Given the description of an element on the screen output the (x, y) to click on. 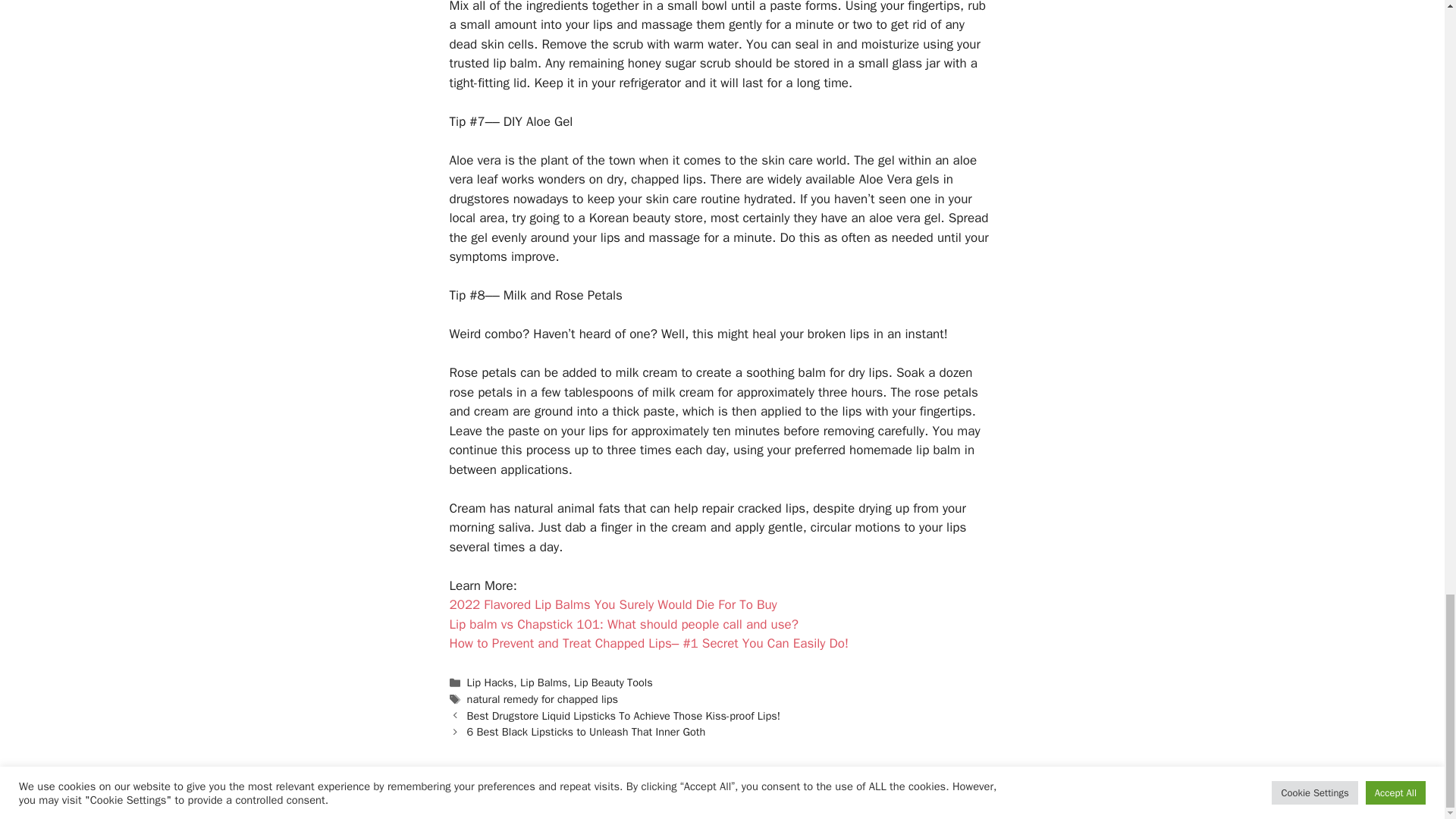
Lip Hacks (490, 682)
Lip Balms (543, 682)
Disclaimer (705, 794)
6 Best Black Lipsticks to Unleash That Inner Goth (586, 731)
Privacy Policy (774, 794)
2022 Flavored Lip Balms You Surely Would Die For To Buy (612, 604)
natural remedy for chapped lips (542, 698)
Lip balm vs Chapstick 101: What should people call and use? (622, 624)
Lip Beauty Tools (612, 682)
